Given the description of an element on the screen output the (x, y) to click on. 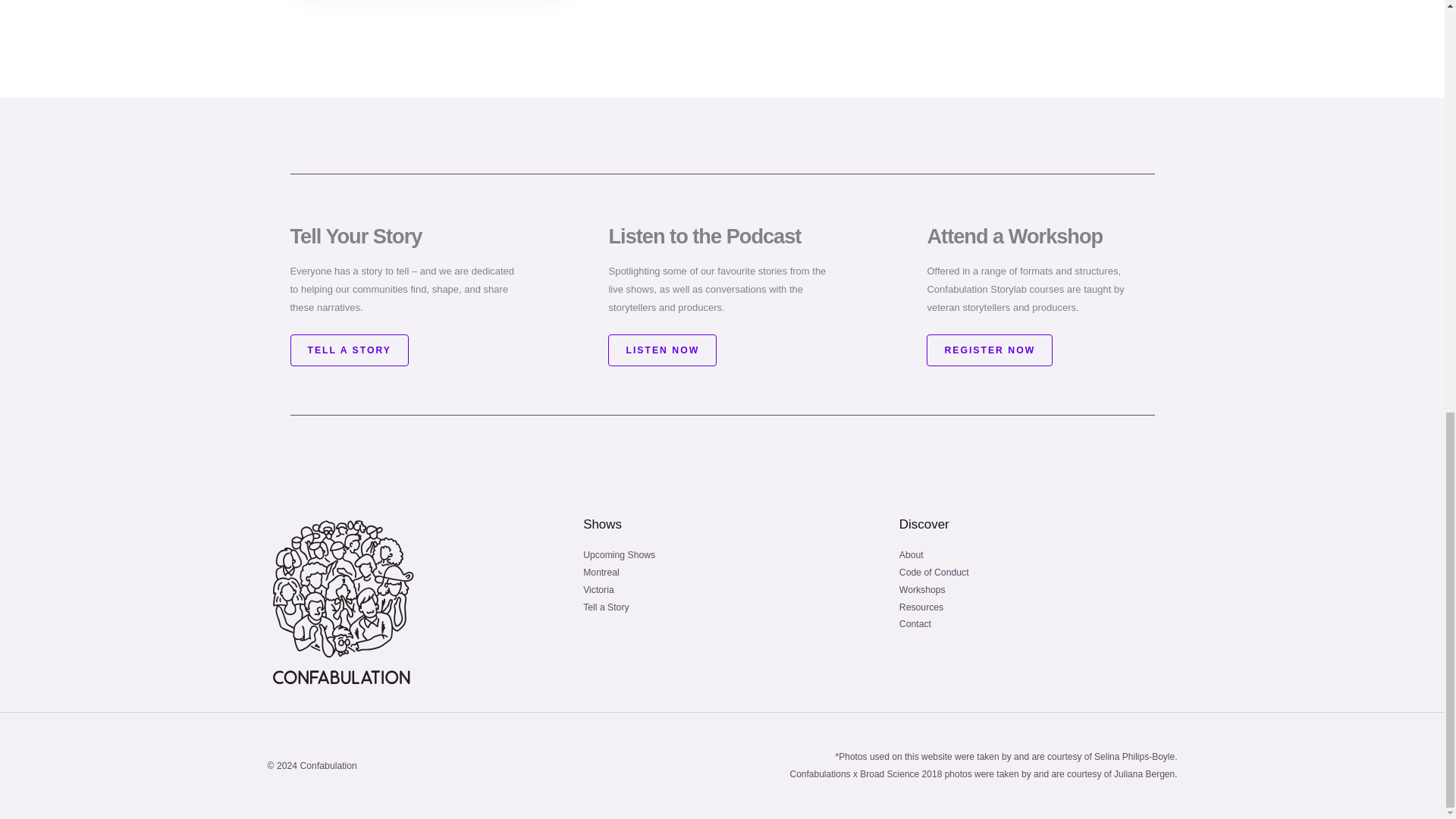
TELL A STORY (348, 350)
LISTEN NOW (662, 350)
REGISTER NOW (989, 350)
